Given the description of an element on the screen output the (x, y) to click on. 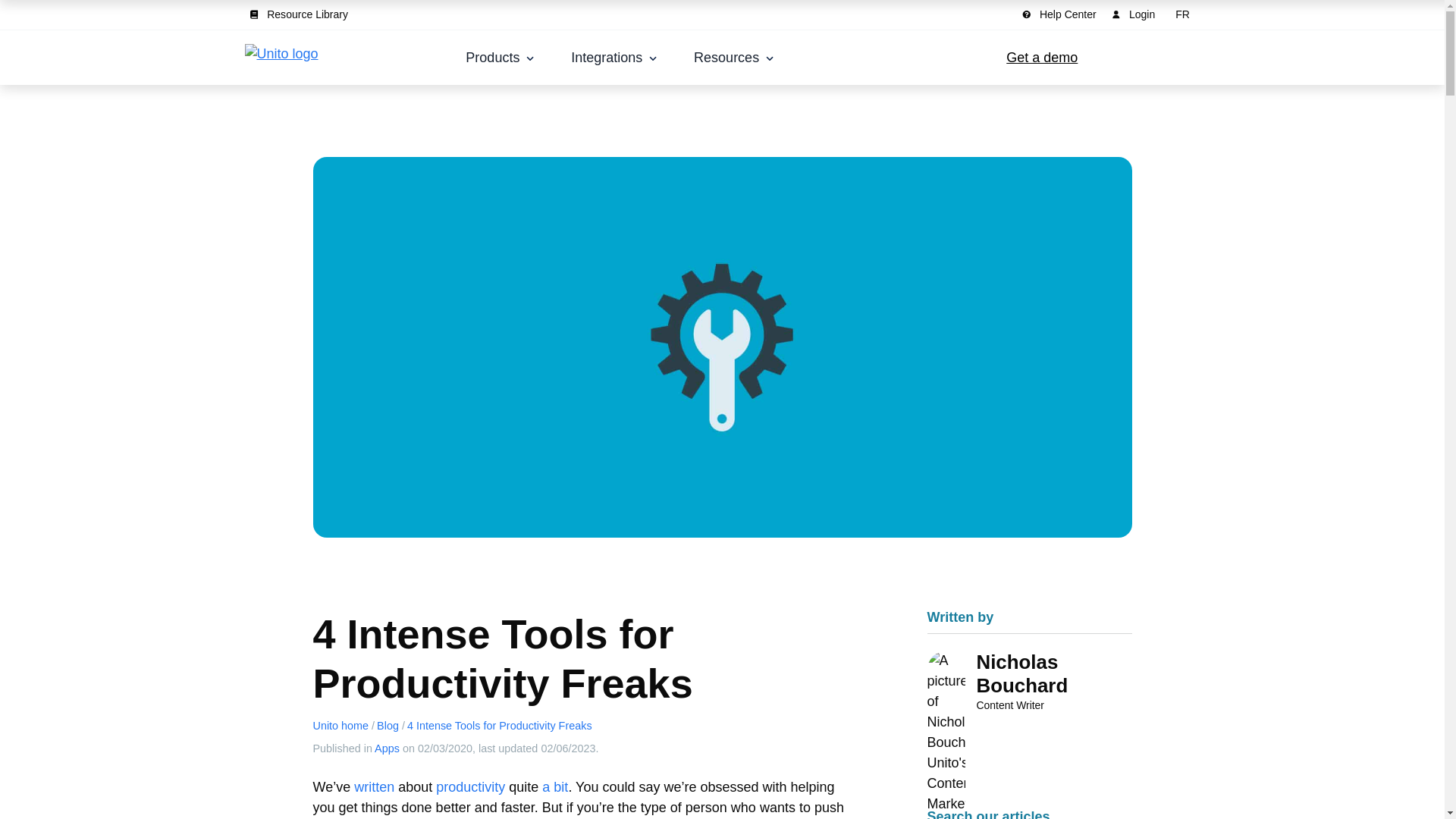
Help Center (1061, 14)
Resource Library (301, 14)
Login (1136, 14)
FR (1182, 14)
